Given the description of an element on the screen output the (x, y) to click on. 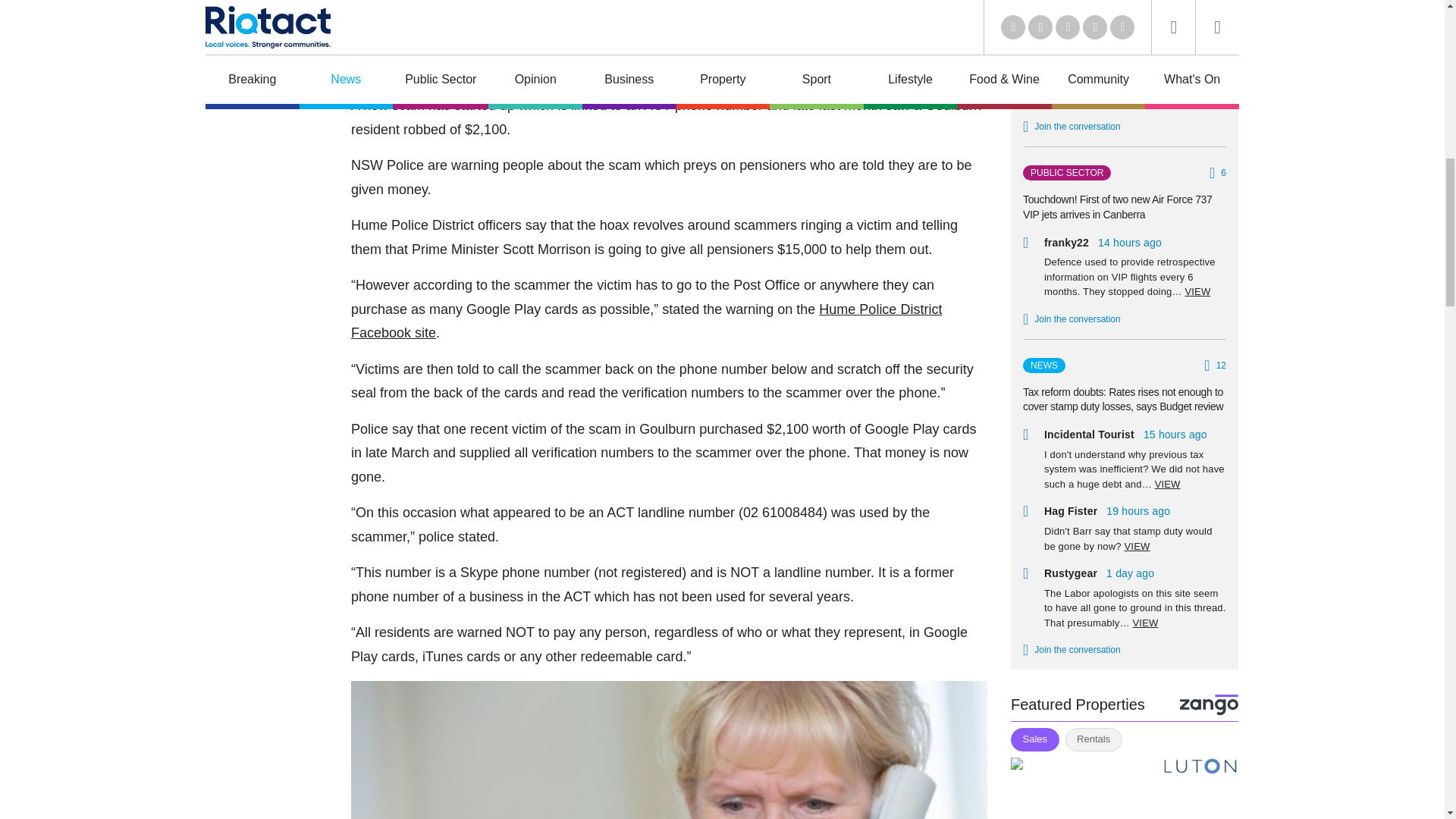
Zango Sales (1124, 788)
Zango (1209, 704)
